Given the description of an element on the screen output the (x, y) to click on. 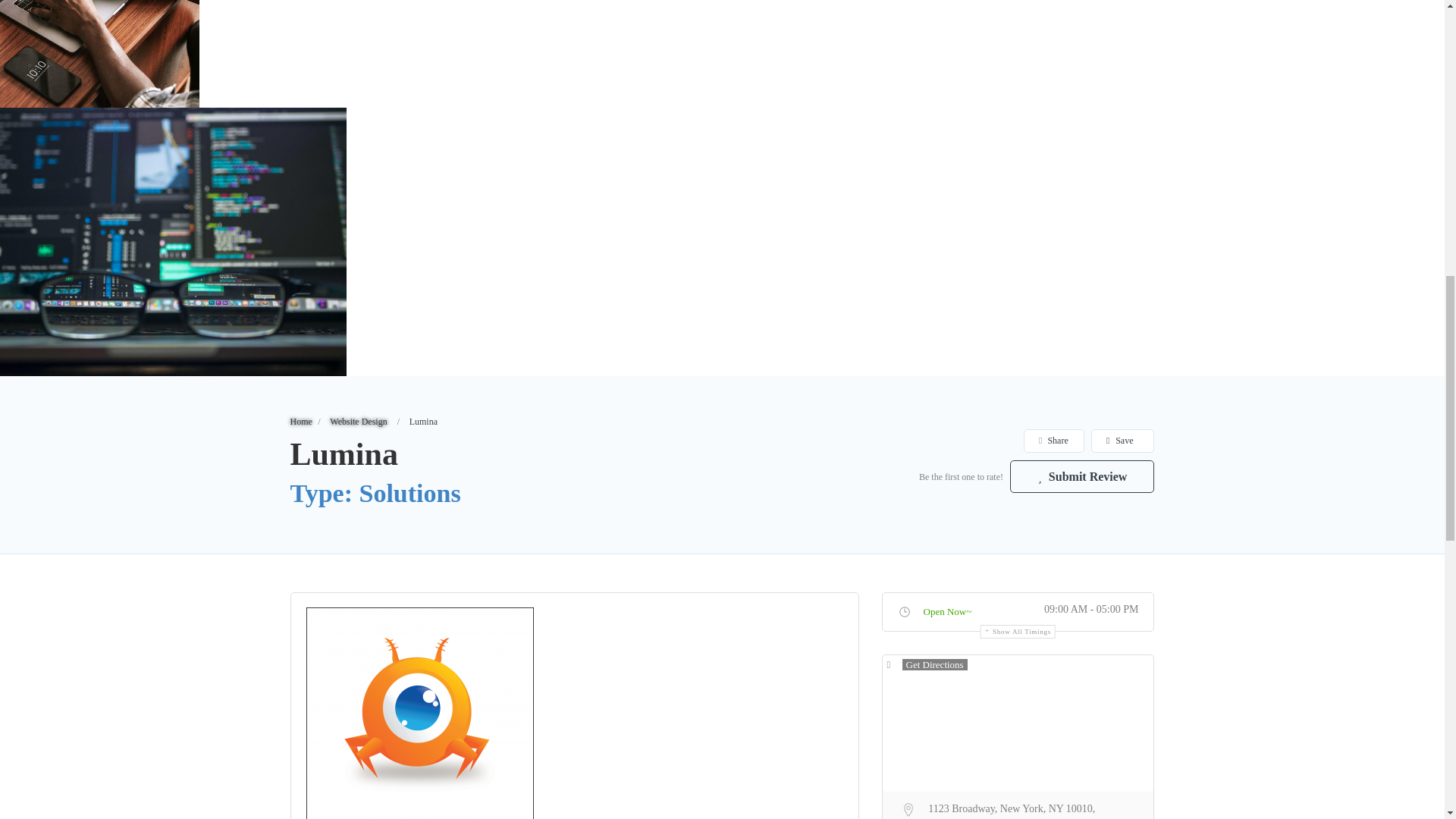
Share (1053, 440)
Website Design (358, 421)
Show All Timings (1017, 631)
Submit Review (1082, 476)
Save (1122, 440)
Get Directions (927, 664)
Home (300, 421)
1123 Broadway, New York, NY 10010, USA (1018, 807)
